Given the description of an element on the screen output the (x, y) to click on. 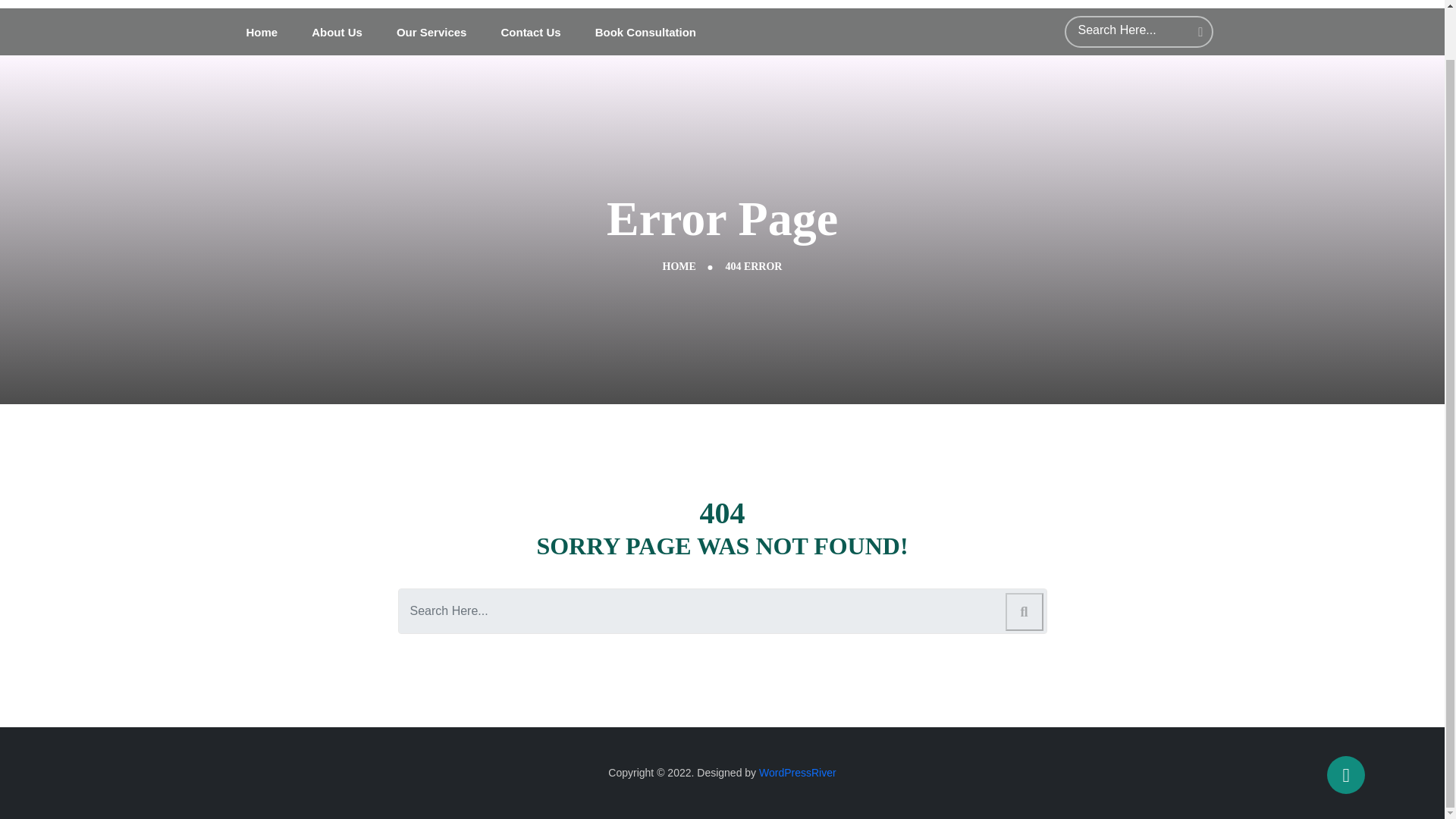
Our Services (431, 31)
Home (262, 31)
Book Consultation (645, 31)
Home (262, 31)
Our Services (431, 31)
Contact Us (530, 31)
About Us (336, 31)
Contact Us (530, 31)
WordPressRiver (796, 772)
HOME (678, 266)
